Given the description of an element on the screen output the (x, y) to click on. 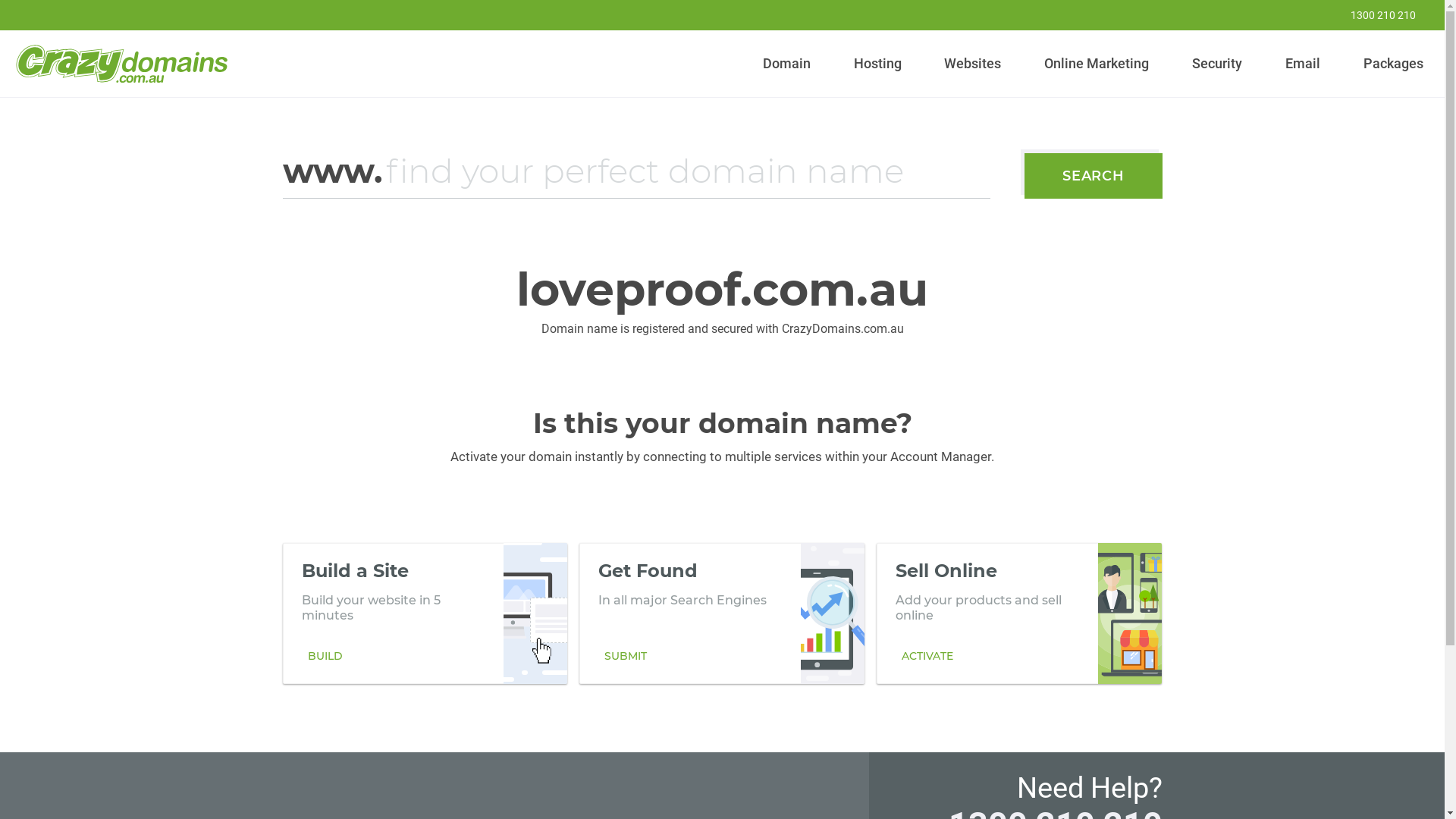
Domain Element type: text (786, 63)
Online Marketing Element type: text (1096, 63)
Packages Element type: text (1392, 63)
Build a Site
Build your website in 5 minutes
BUILD Element type: text (424, 613)
1300 210 210 Element type: text (1373, 15)
Security Element type: text (1217, 63)
Get Found
In all major Search Engines
SUBMIT Element type: text (721, 613)
SEARCH Element type: text (1092, 175)
Email Element type: text (1302, 63)
Hosting Element type: text (877, 63)
Websites Element type: text (972, 63)
Sell Online
Add your products and sell online
ACTIVATE Element type: text (1018, 613)
